Given the description of an element on the screen output the (x, y) to click on. 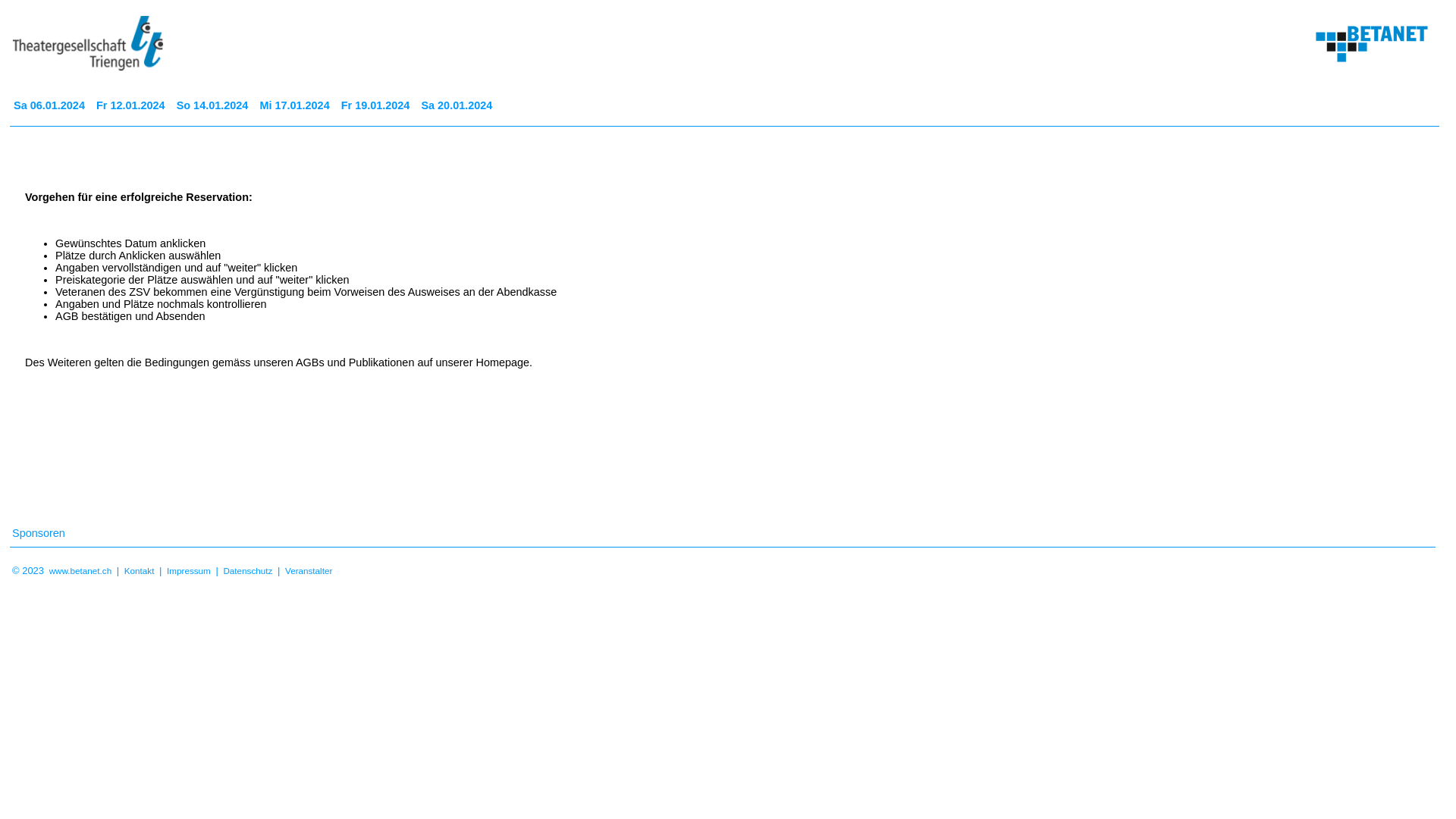
Mi 17.01.2024 Element type: text (295, 105)
Sa 06.01.2024 Element type: text (50, 105)
Sa 20.01.2024 Element type: text (458, 105)
Fr 12.01.2024 Element type: text (132, 105)
Datenschutz Element type: text (247, 570)
Kontakt Element type: text (139, 570)
Veranstalter Element type: text (308, 570)
So 14.01.2024 Element type: text (214, 105)
Impressum Element type: text (188, 570)
Fr 19.01.2024 Element type: text (377, 105)
www.betanet.ch Element type: text (80, 570)
